Given the description of an element on the screen output the (x, y) to click on. 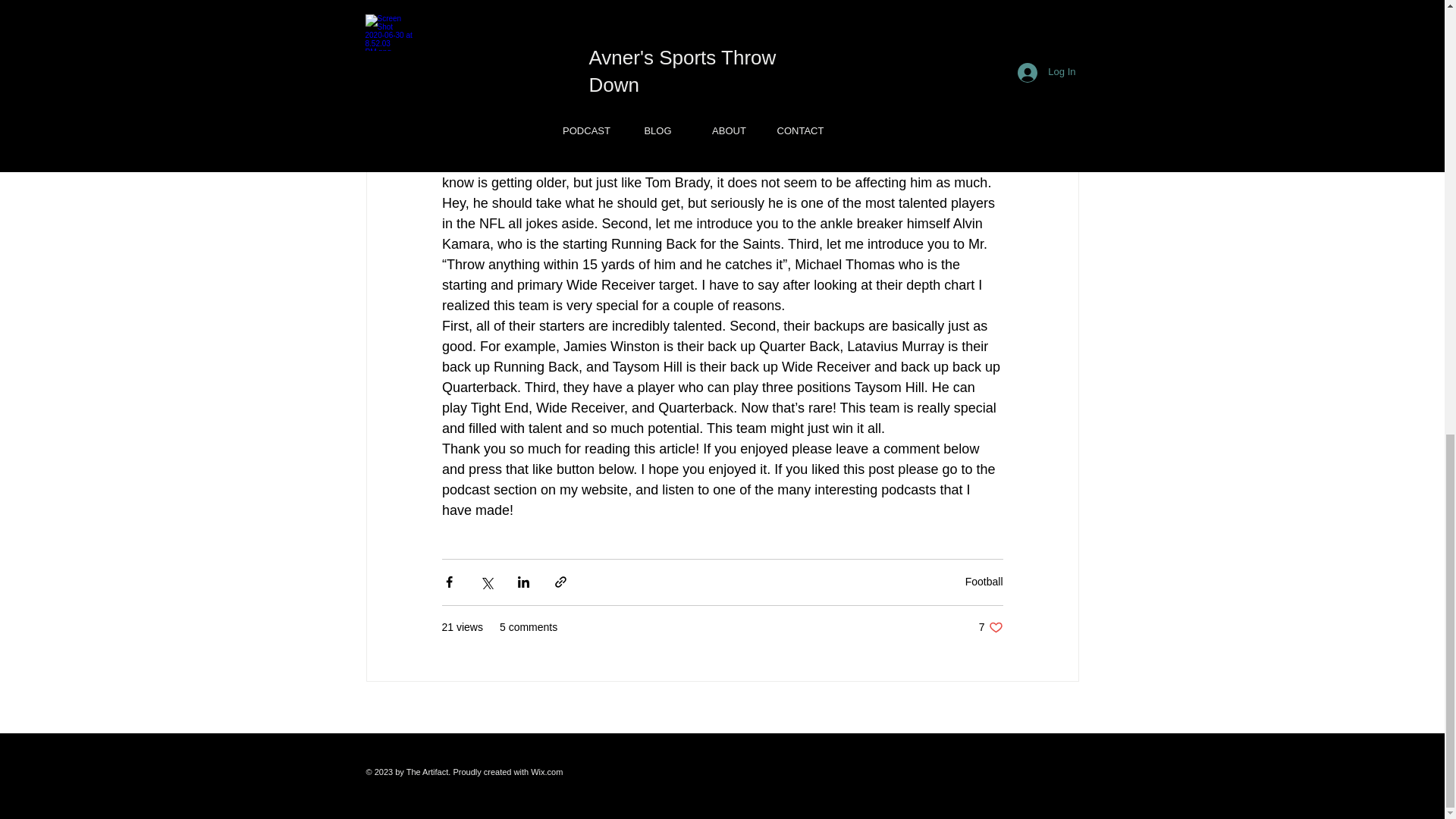
Wix.com (546, 771)
Football (990, 626)
